Given the description of an element on the screen output the (x, y) to click on. 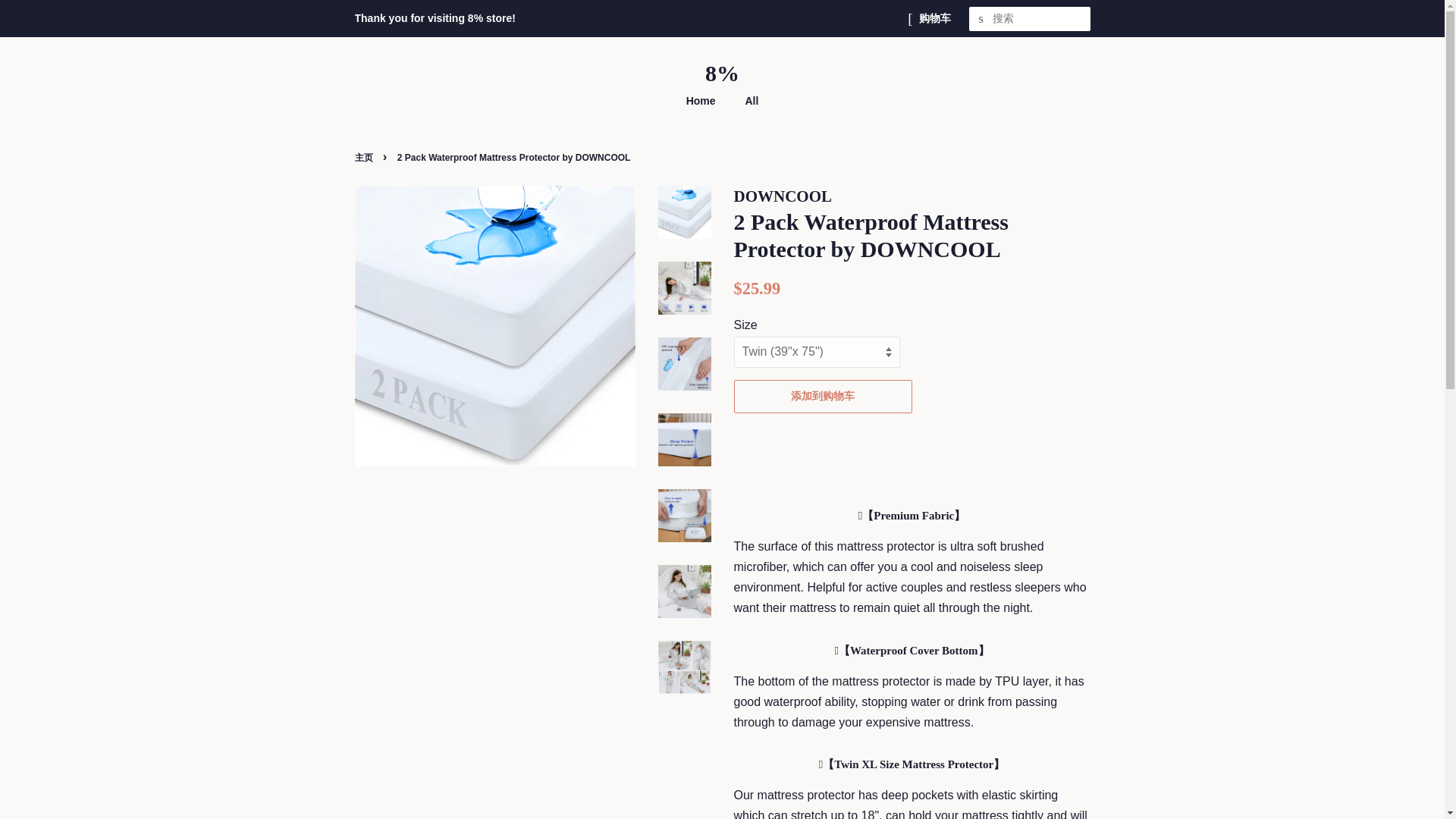
Home (707, 101)
